Given the description of an element on the screen output the (x, y) to click on. 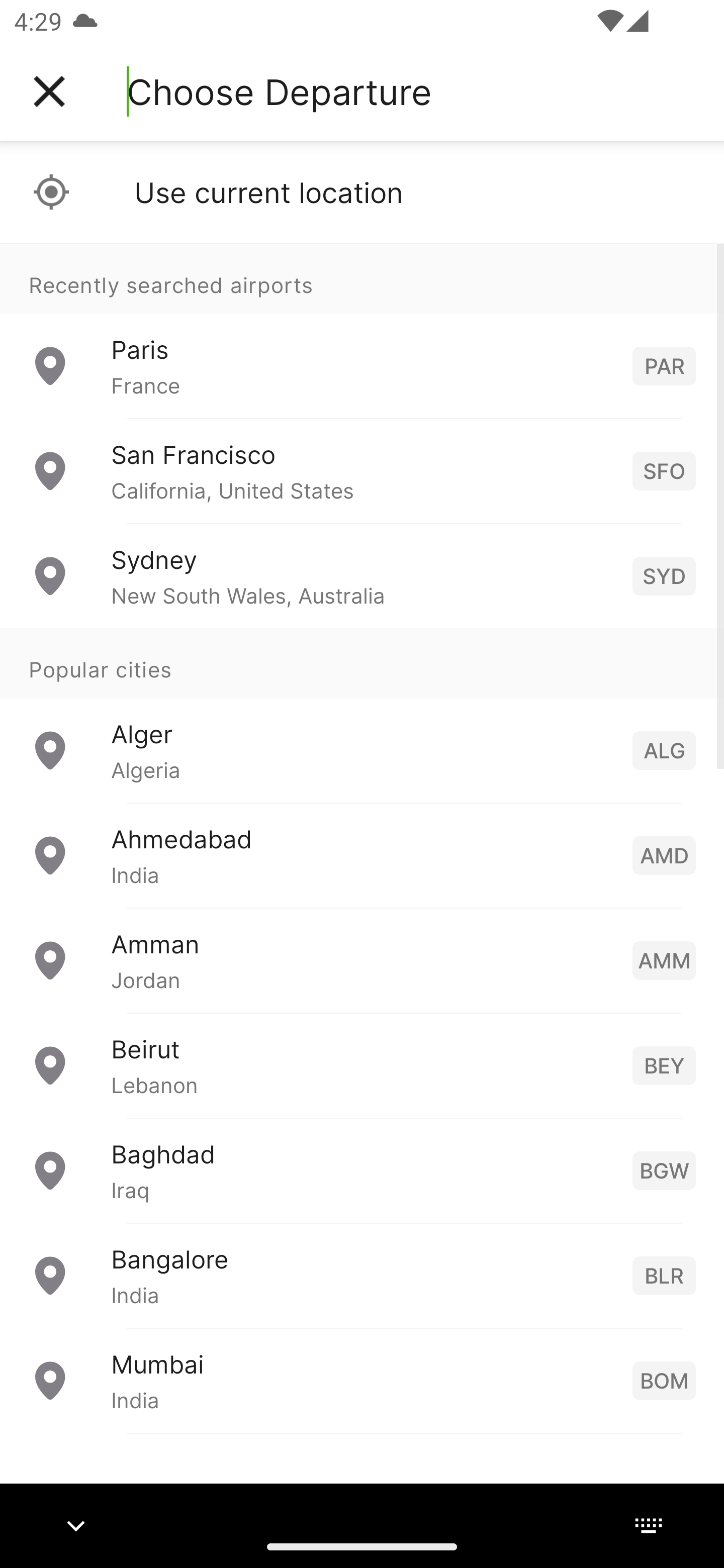
Choose Departure (279, 91)
Use current location (362, 192)
Recently searched airports Paris France PAR (362, 330)
Recently searched airports (362, 278)
San Francisco California, United States SFO (362, 470)
Sydney New South Wales, Australia SYD (362, 575)
Popular cities Alger Algeria ALG (362, 715)
Popular cities (362, 663)
Ahmedabad India AMD (362, 854)
Amman Jordan AMM (362, 959)
Beirut Lebanon BEY (362, 1064)
Baghdad Iraq BGW (362, 1170)
Bangalore India BLR (362, 1275)
Mumbai India BOM (362, 1380)
